Given the description of an element on the screen output the (x, y) to click on. 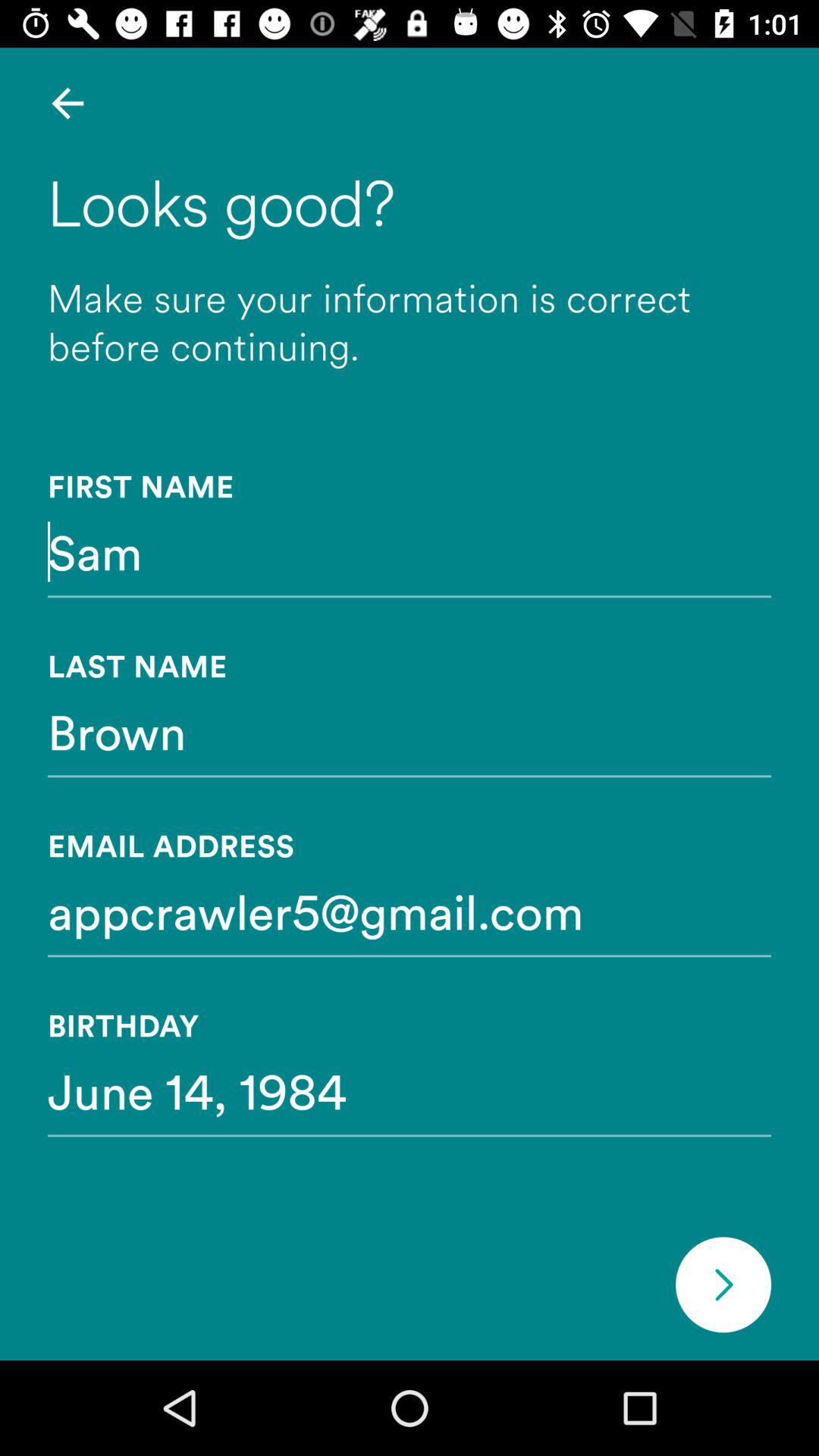
turn on the june 14, 1984 item (409, 1090)
